Given the description of an element on the screen output the (x, y) to click on. 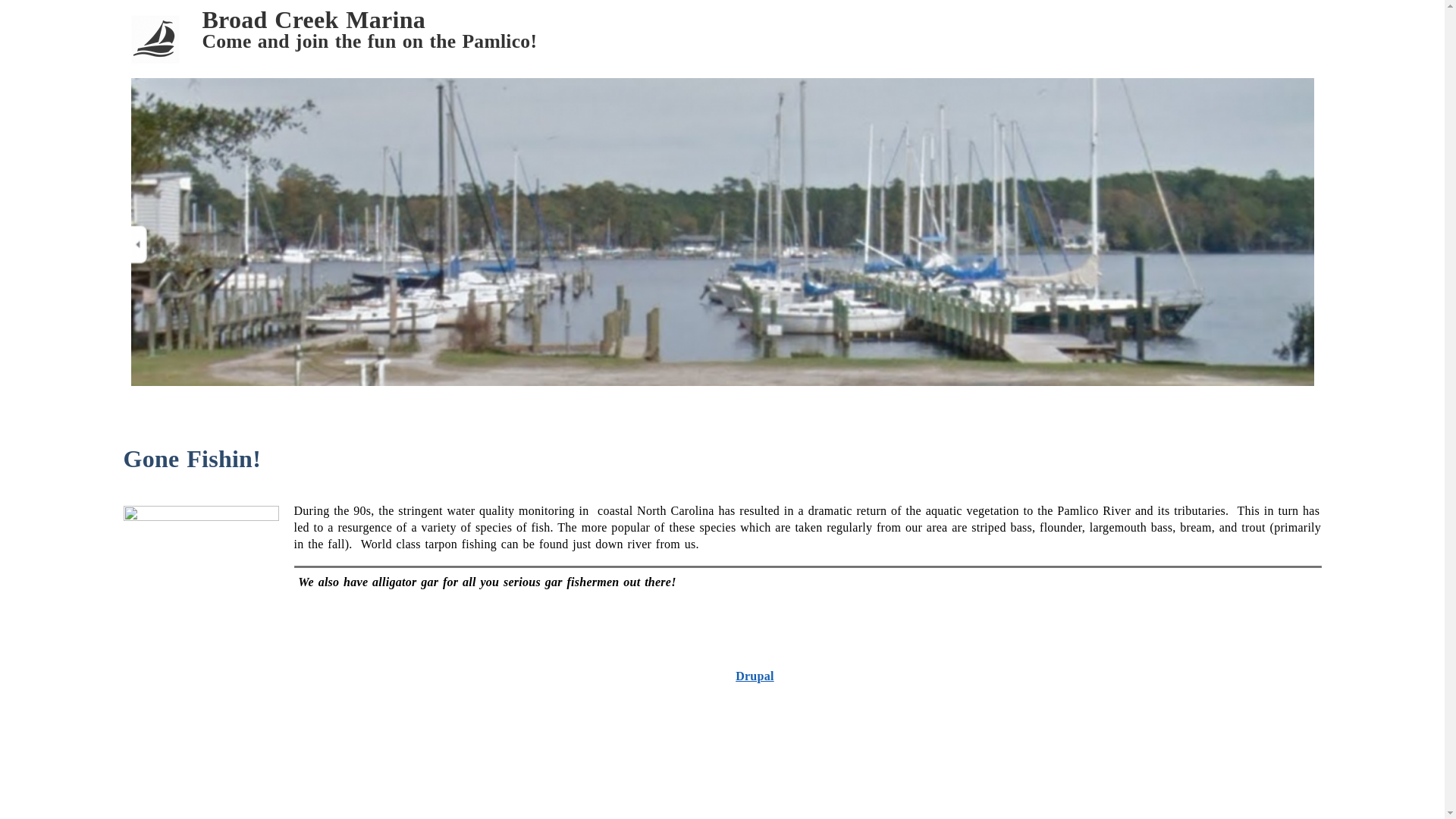
Broad Creek Marina (313, 19)
Drupal (754, 675)
Home page (313, 19)
